Given the description of an element on the screen output the (x, y) to click on. 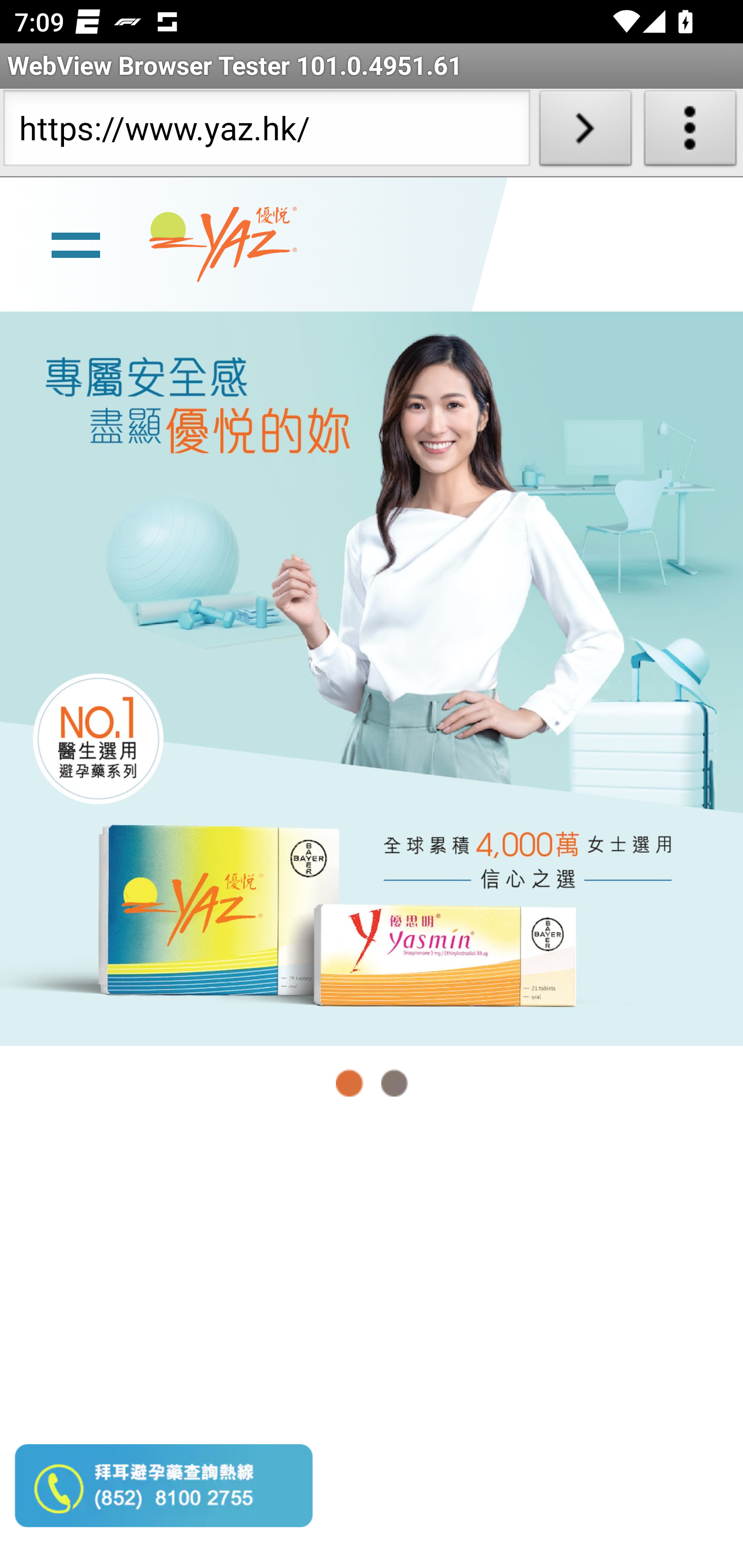
https://www.yaz.hk/ (266, 132)
Load URL (585, 132)
About WebView (690, 132)
www.yaz (222, 244)
line Toggle burger menu (75, 242)
slide 1 Alt tag Alt tag (371, 677)
1 of 2 (349, 1083)
2 of 2 (393, 1083)
